Given the description of an element on the screen output the (x, y) to click on. 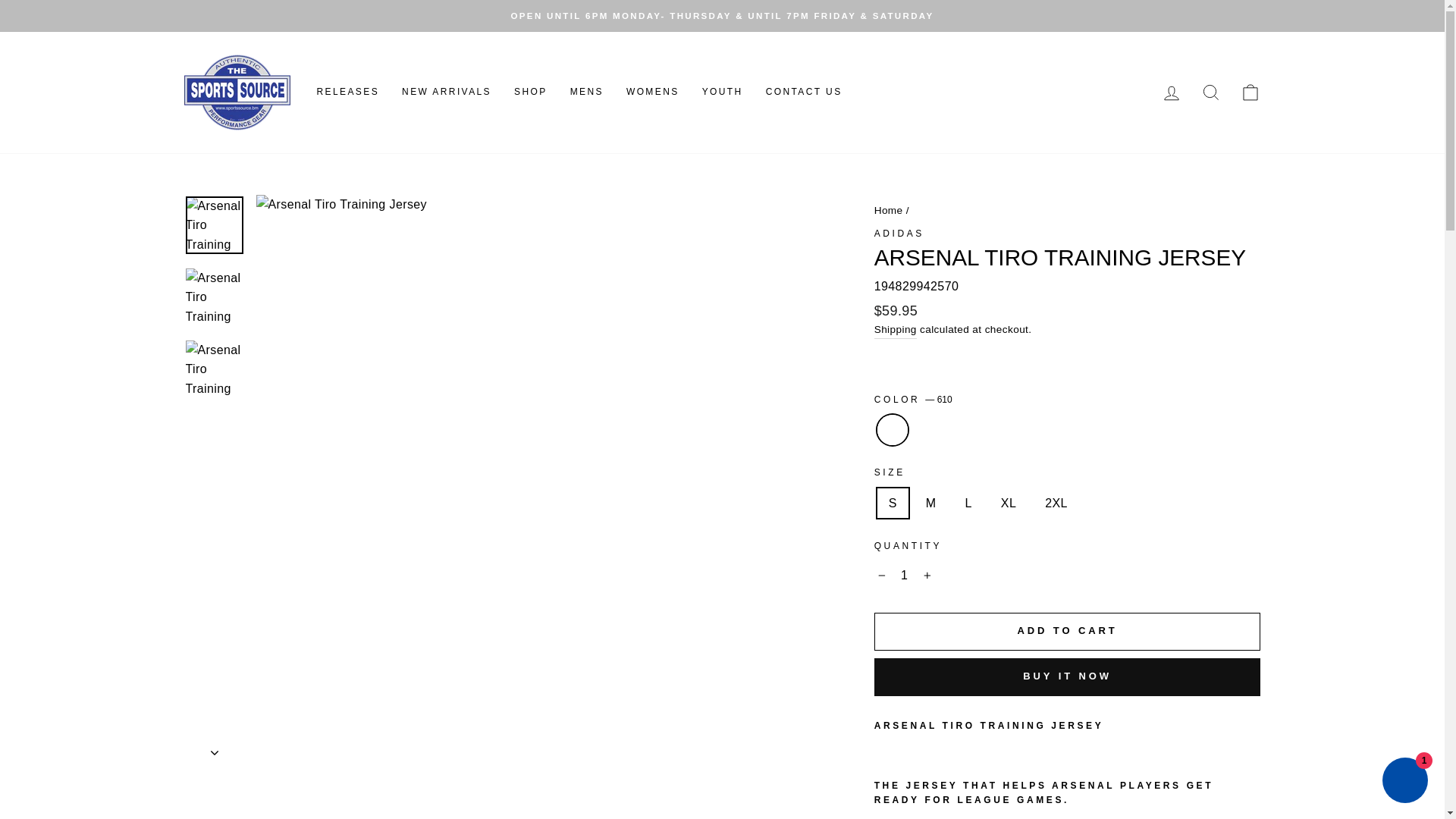
1 (904, 575)
Adidas (899, 232)
Back to the frontpage (888, 210)
Shopify online store chat (1404, 781)
